Given the description of an element on the screen output the (x, y) to click on. 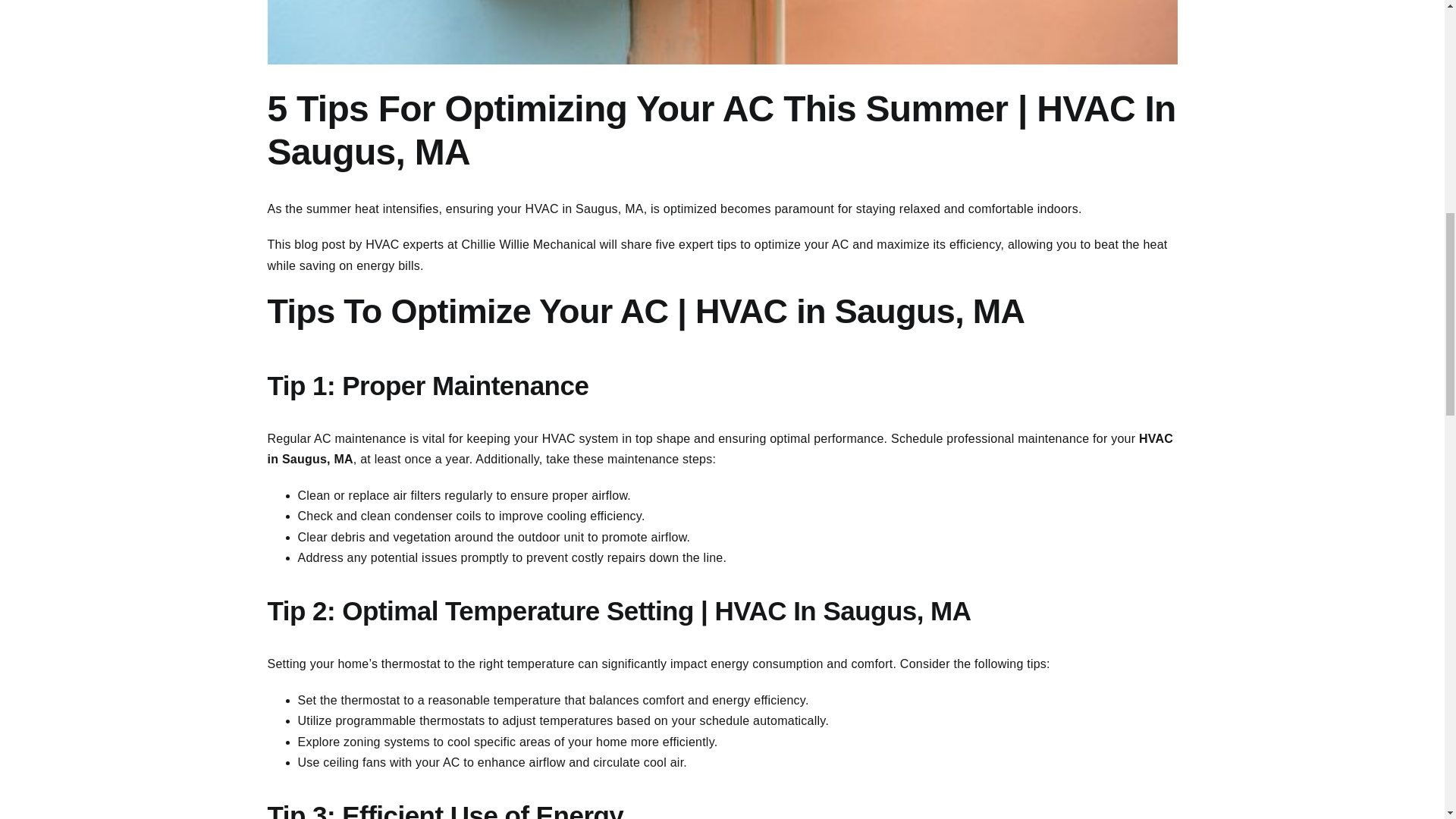
View Larger Image (721, 32)
Chillie Willie Mechanical (528, 244)
HVAC in Saugus, MA (584, 208)
